Given the description of an element on the screen output the (x, y) to click on. 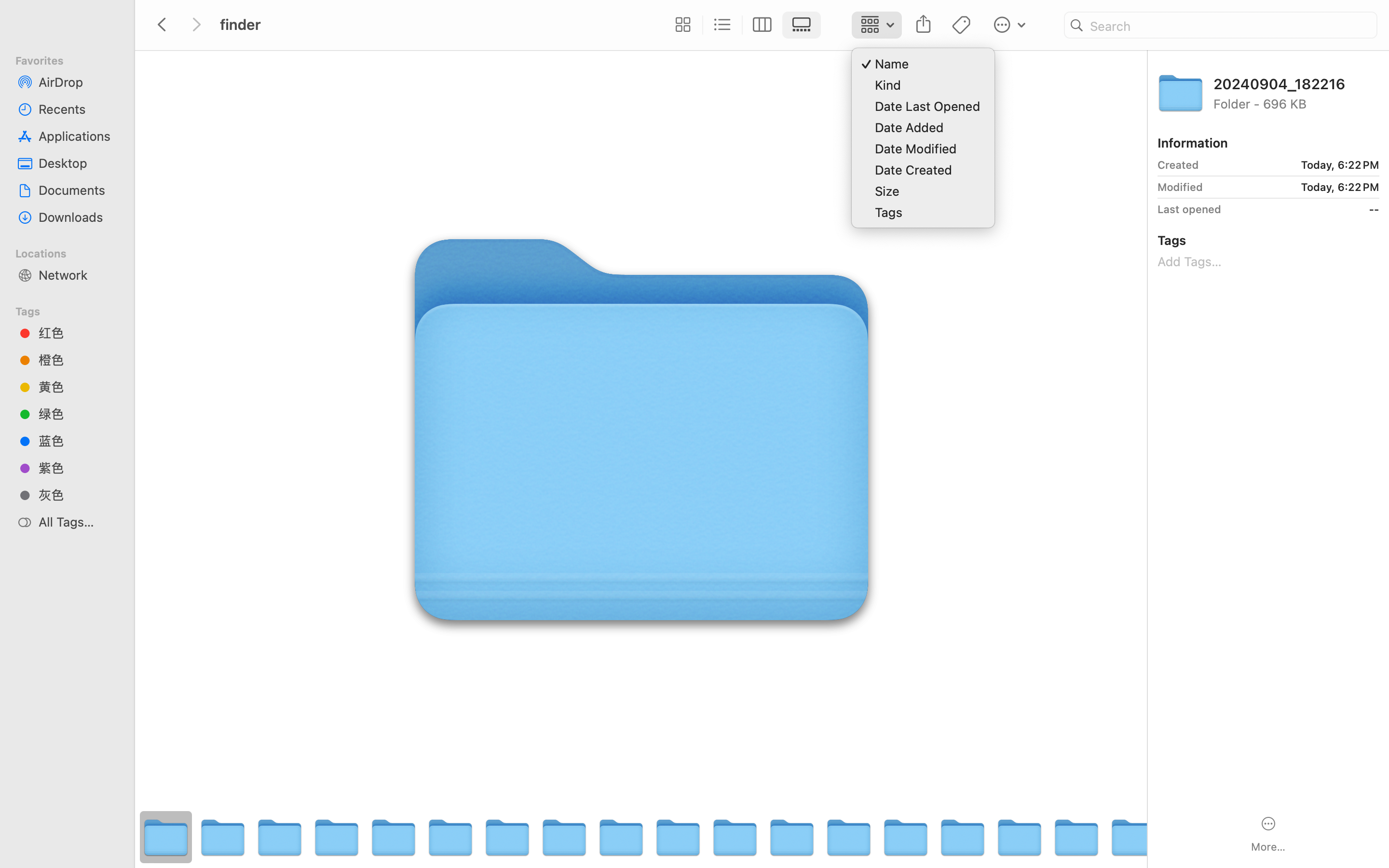
Tags… Element type: AXStaticText (20, 860)
Locations Element type: AXStaticText (72, 252)
红色 Element type: AXStaticText (77, 332)
1 Element type: AXRadioButton (804, 24)
灰色 Element type: AXStaticText (77, 494)
